Given the description of an element on the screen output the (x, y) to click on. 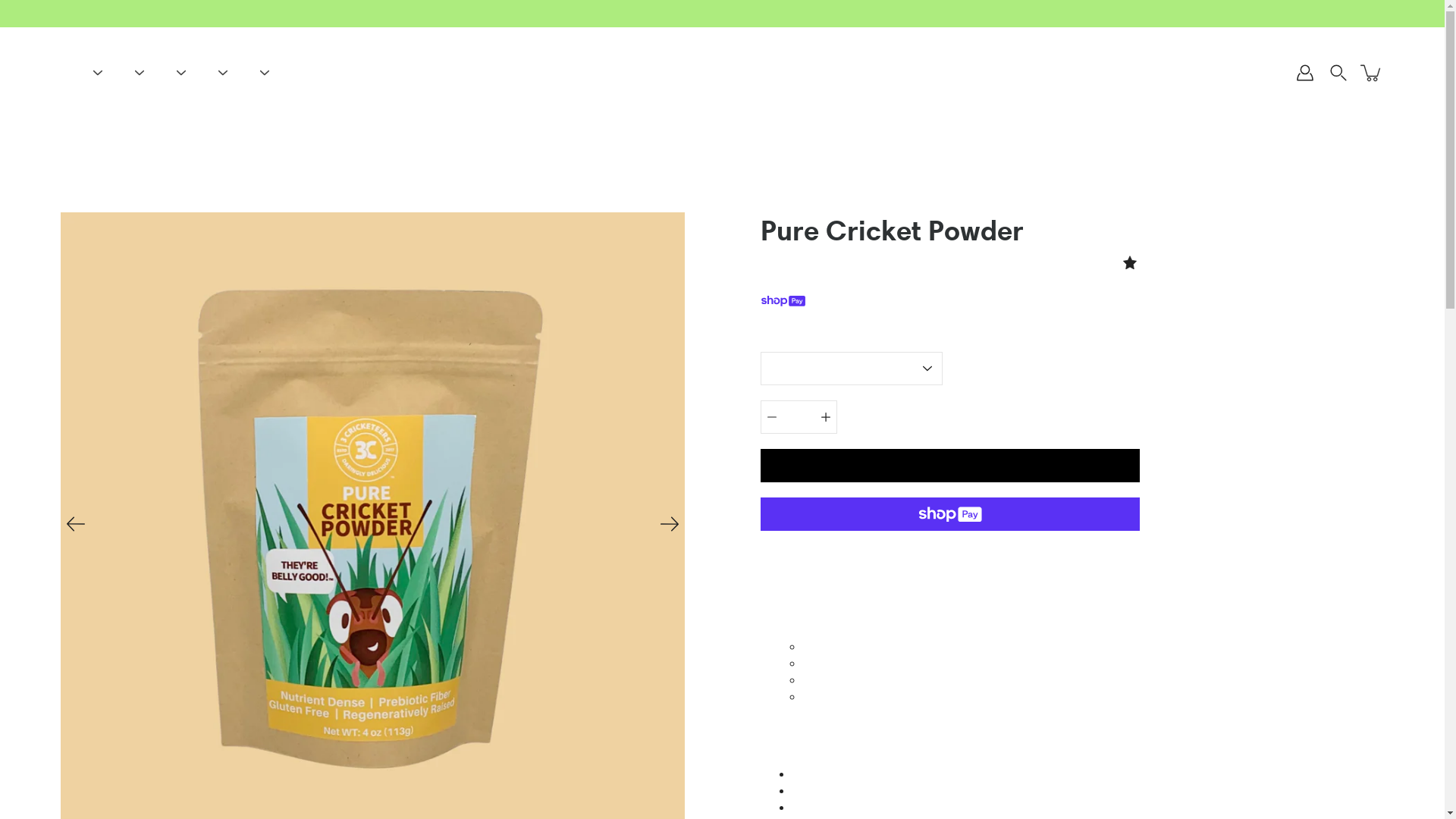
Add To Cart Element type: text (949, 465)
